Given the description of an element on the screen output the (x, y) to click on. 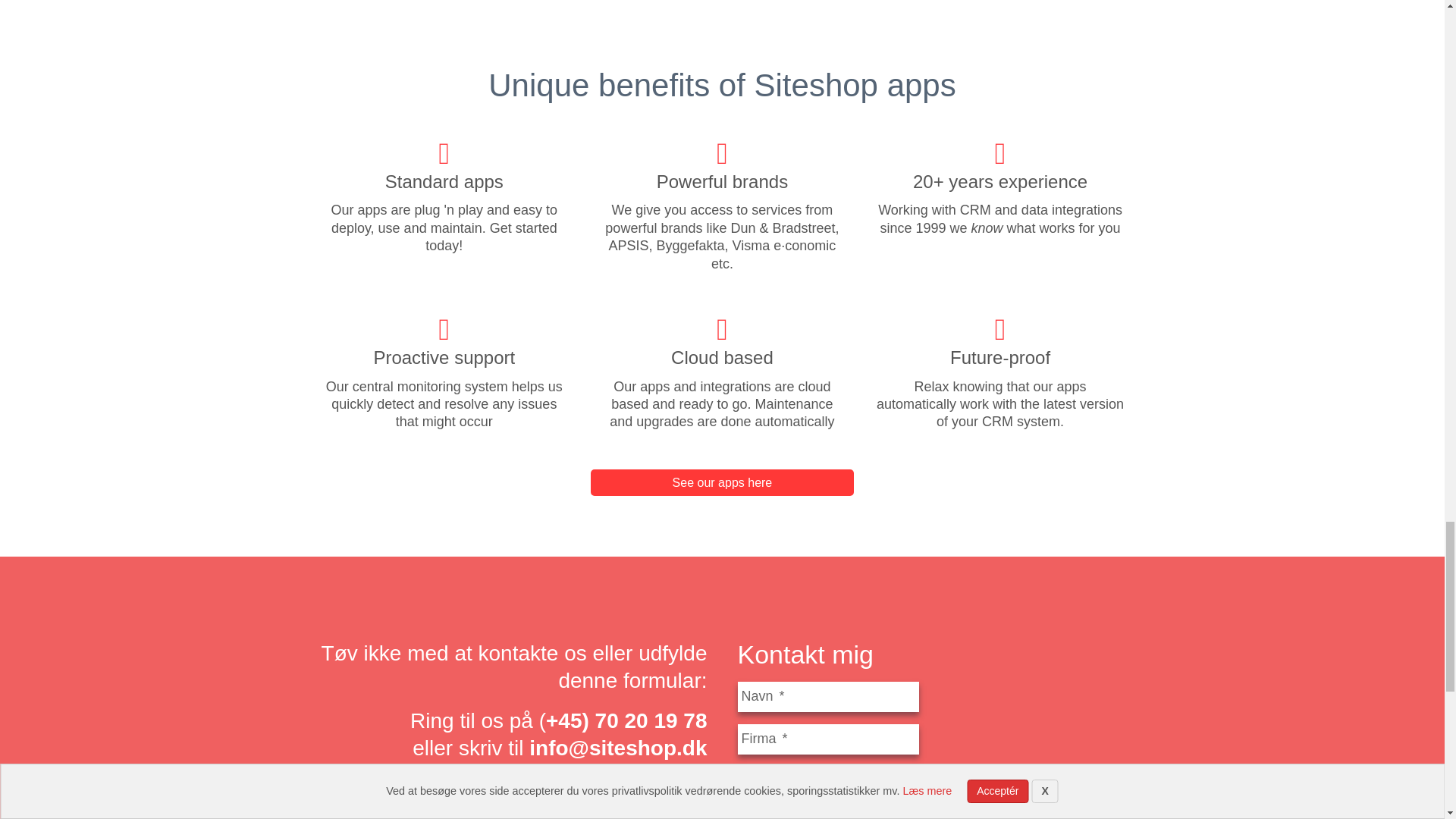
See our apps here (722, 482)
